Given the description of an element on the screen output the (x, y) to click on. 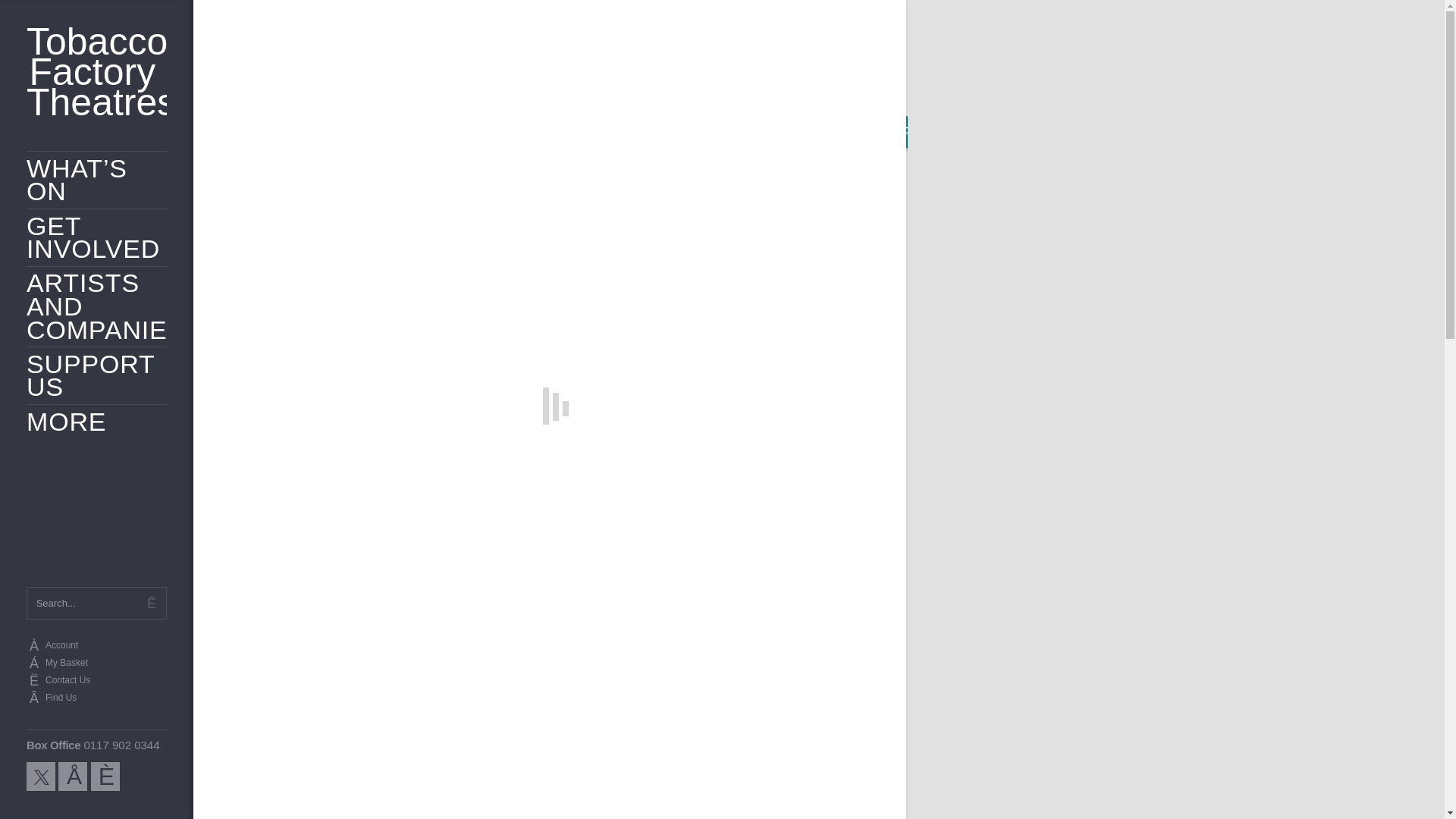
Tweet about this show (710, 472)
Tobacco Factory Theatres on Facebook (72, 776)
Contact Us (96, 680)
REVIEWS (349, 570)
Tobacco Factory Theatres (96, 71)
GET INVOLVED (96, 237)
COVID SAFETY MEASURES (714, 777)
Tweet about this show (710, 472)
Tobacco Factory Theatres (96, 71)
SUPPORT US (96, 375)
GALLERY (422, 570)
Share this show on Facebook (721, 496)
Tobacco Factory Theatres on Instagram (104, 776)
Big Boys Don't Cry Full Trailer (441, 719)
OPPOSABLE THUMB THEATRE (326, 380)
